Given the description of an element on the screen output the (x, y) to click on. 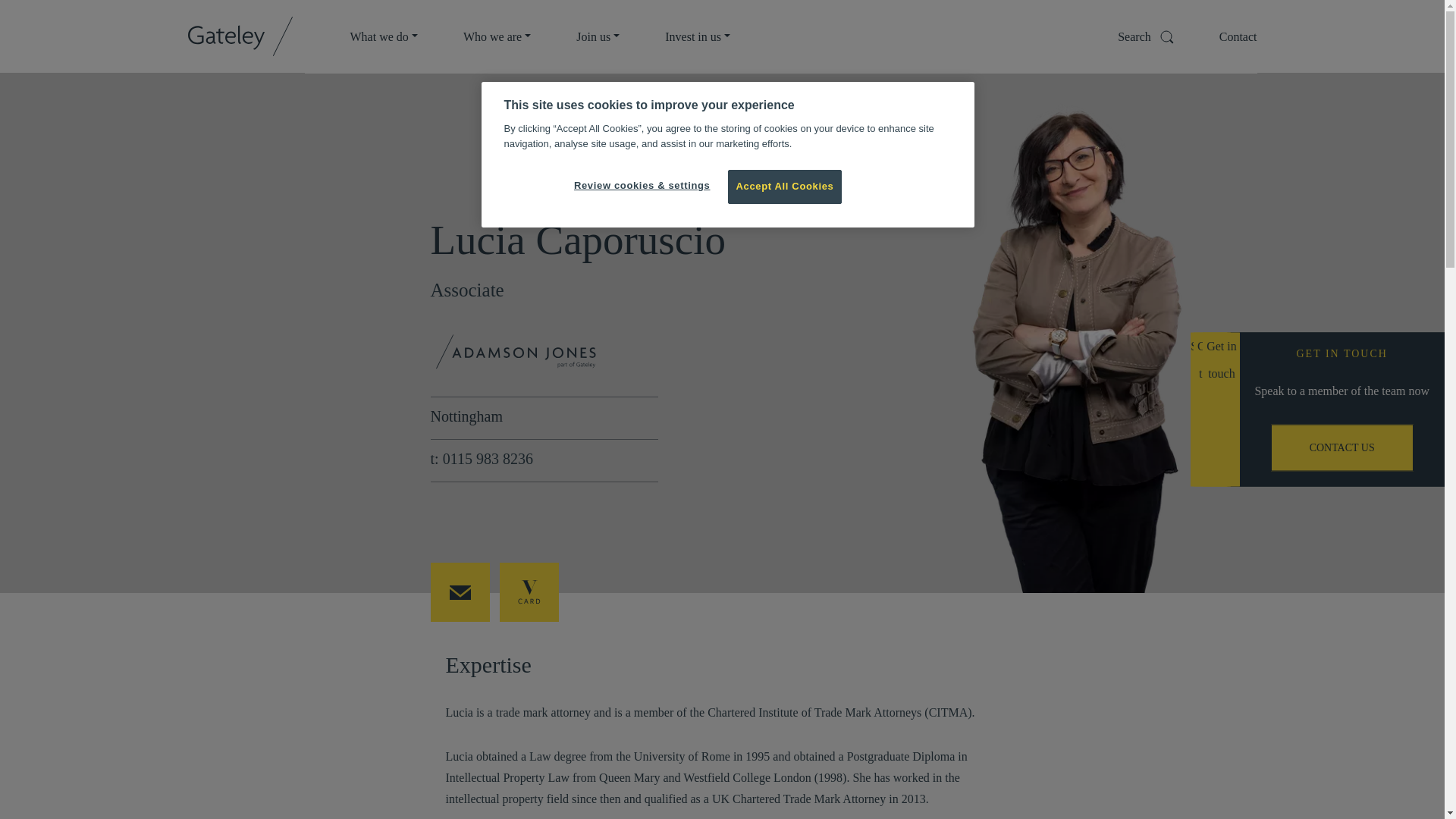
What we do (383, 36)
